Given the description of an element on the screen output the (x, y) to click on. 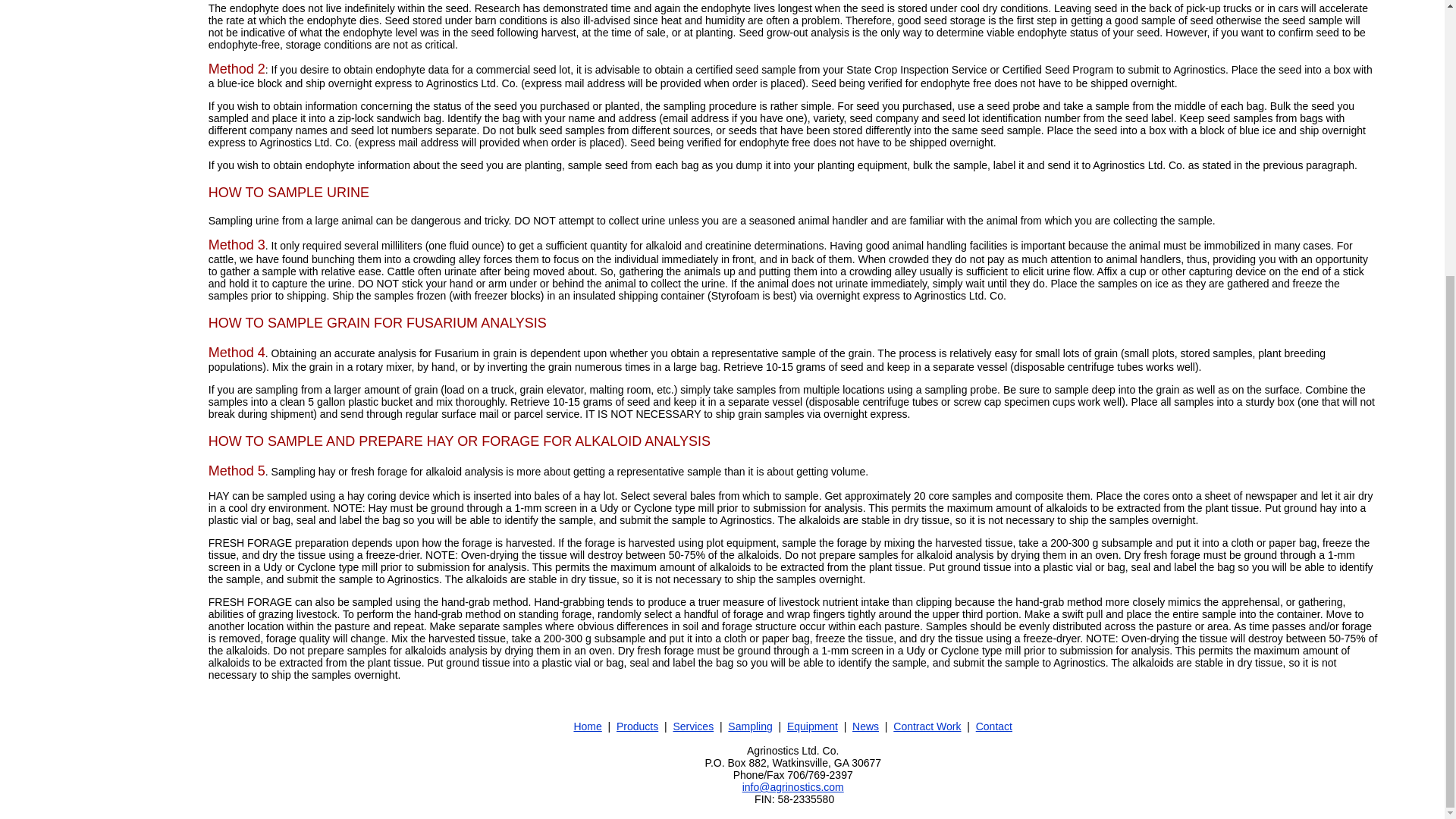
Contact (993, 726)
News (865, 726)
Sampling (749, 726)
Home (787, 717)
Services (692, 726)
Contract Work (926, 726)
Equipment (812, 726)
Products (636, 726)
